Given the description of an element on the screen output the (x, y) to click on. 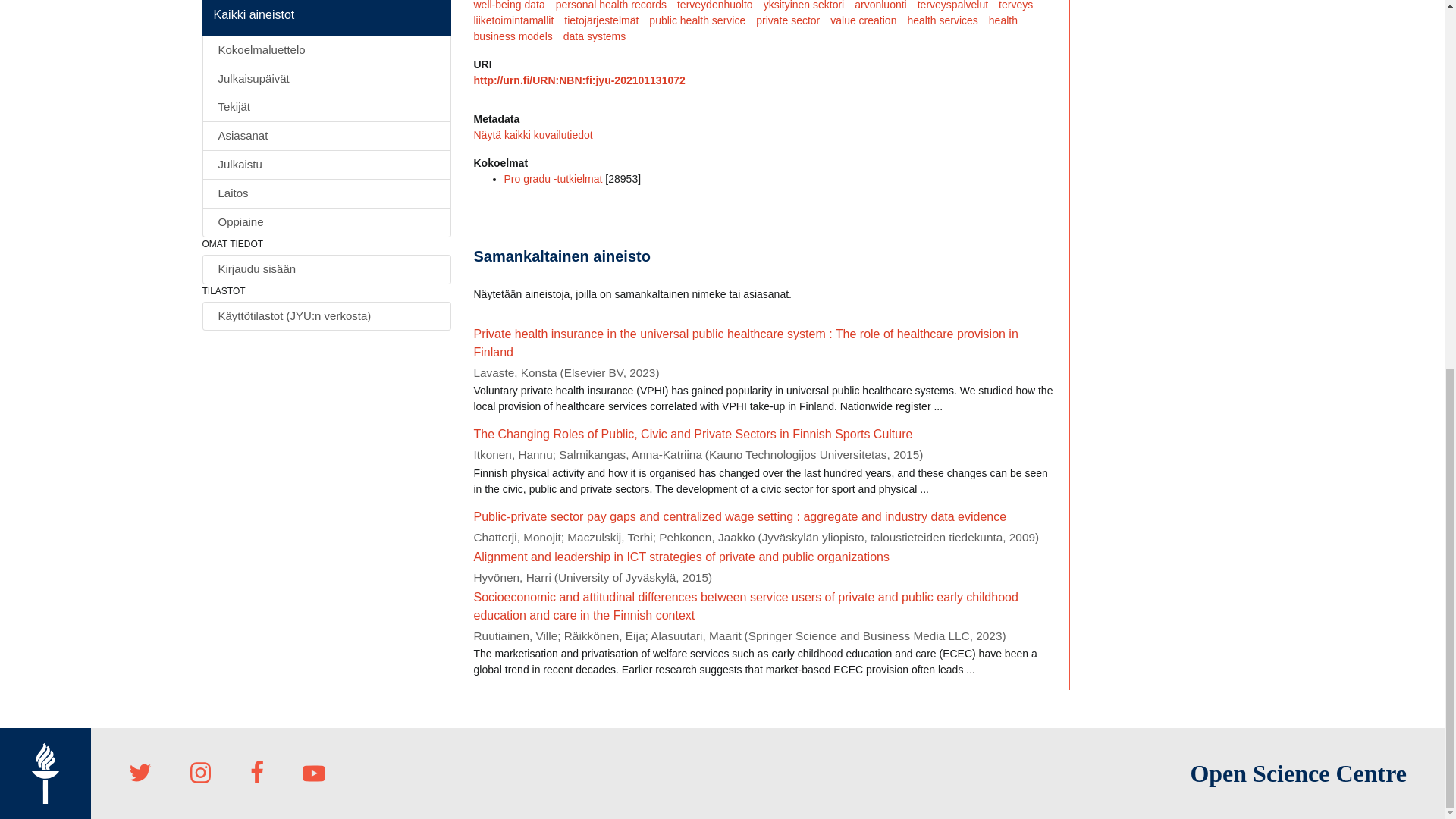
health services (947, 20)
well-being data (513, 6)
yksityinen sektori (809, 6)
private sector (792, 20)
value creation (868, 20)
public health service (702, 20)
terveys (1020, 6)
arvonluonti (885, 6)
terveydenhuolto (719, 6)
liiketoimintamallit (518, 20)
personal health records (616, 6)
terveyspalvelut (957, 6)
